Given the description of an element on the screen output the (x, y) to click on. 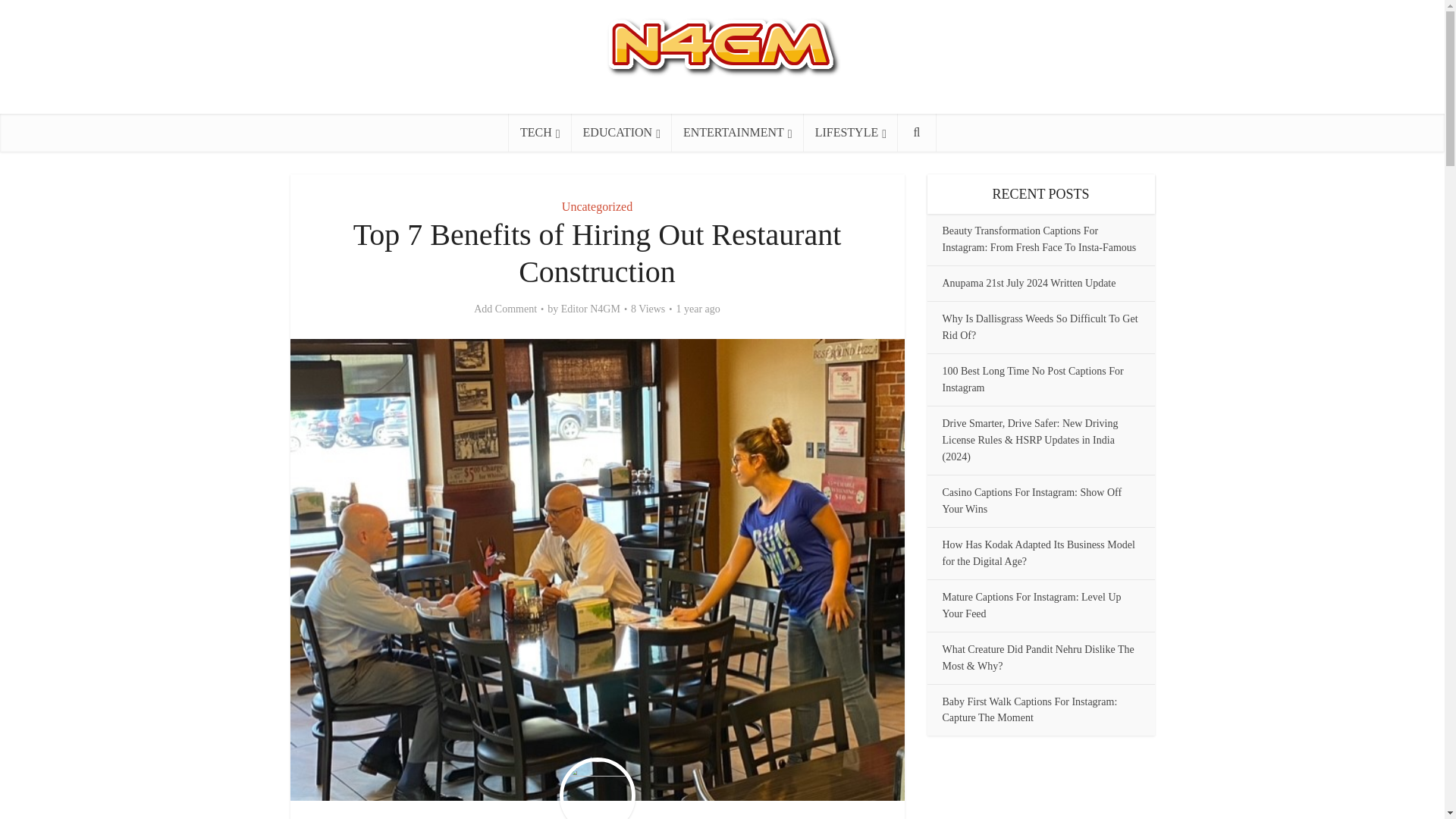
ENTERTAINMENT (737, 132)
LIFESTYLE (850, 132)
TECH (540, 132)
EDUCATION (621, 132)
